Given the description of an element on the screen output the (x, y) to click on. 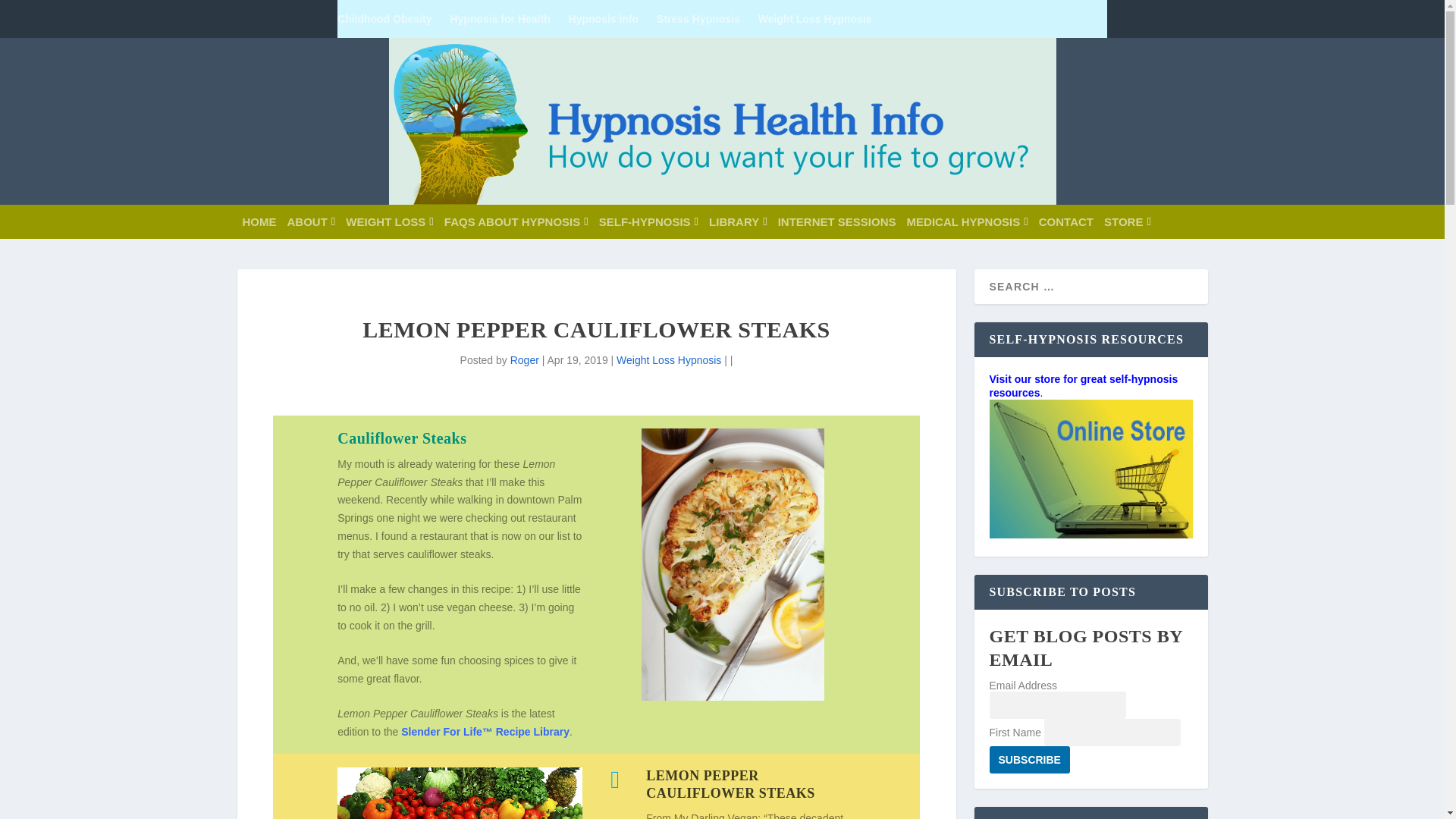
ABOUT (310, 221)
Subscribe (1028, 759)
LIBRARY (738, 221)
WEIGHT LOSS (389, 221)
SELF-HYPNOSIS (648, 221)
HOME (259, 221)
Hypnosis for Health (499, 18)
Childhood Obesity (383, 18)
FAQS ABOUT HYPNOSIS (516, 221)
INTERNET SESSIONS (836, 221)
MEDICAL HYPNOSIS (967, 221)
Posts by Roger (524, 359)
Weight Loss Hypnosis (815, 18)
Stress Hypnosis (697, 18)
Hypnosis Info (604, 18)
